Given the description of an element on the screen output the (x, y) to click on. 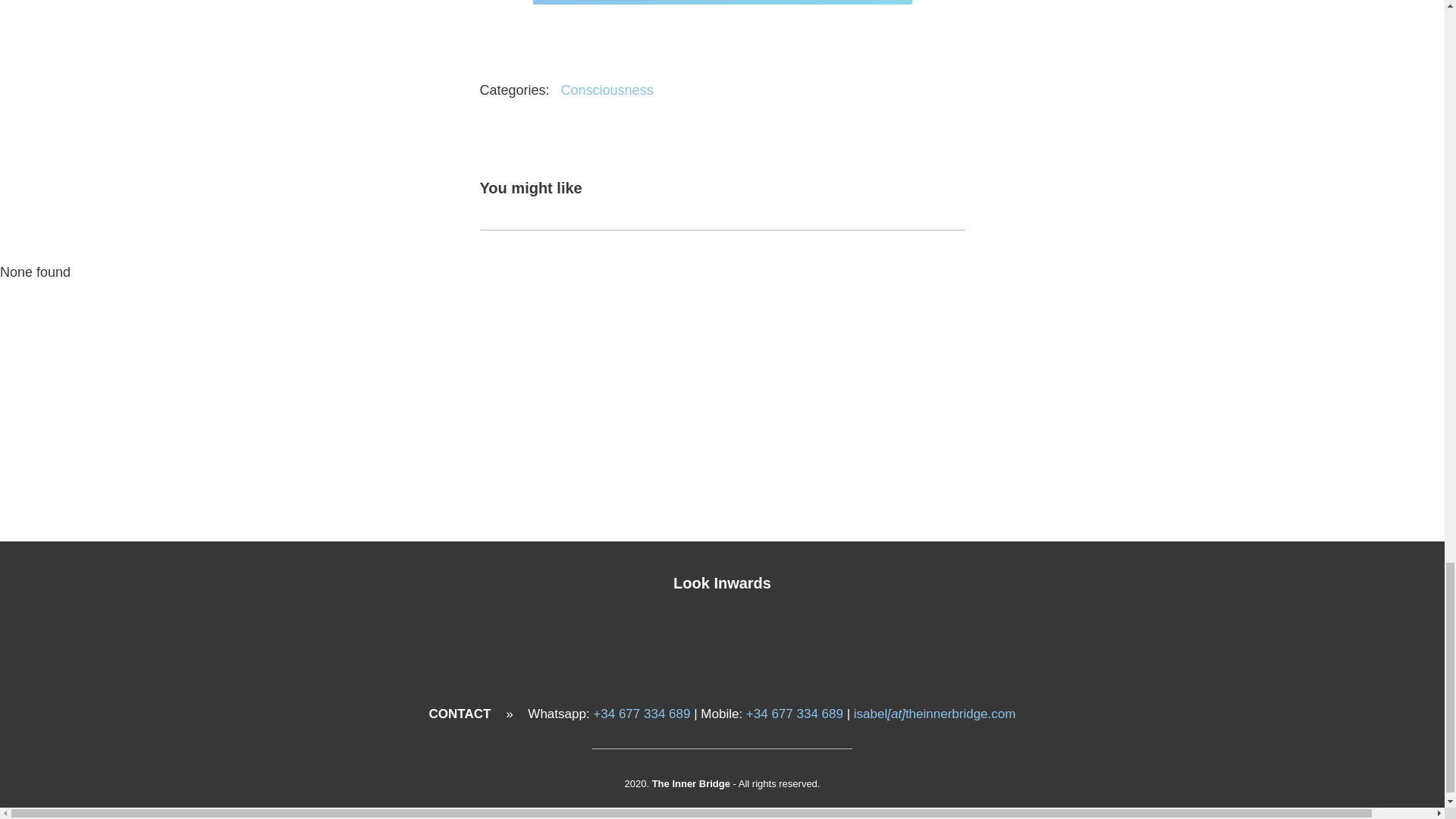
Consciousness (606, 90)
Sign up for Isabel's Newsletter (722, 474)
Book here (721, 2)
